Given the description of an element on the screen output the (x, y) to click on. 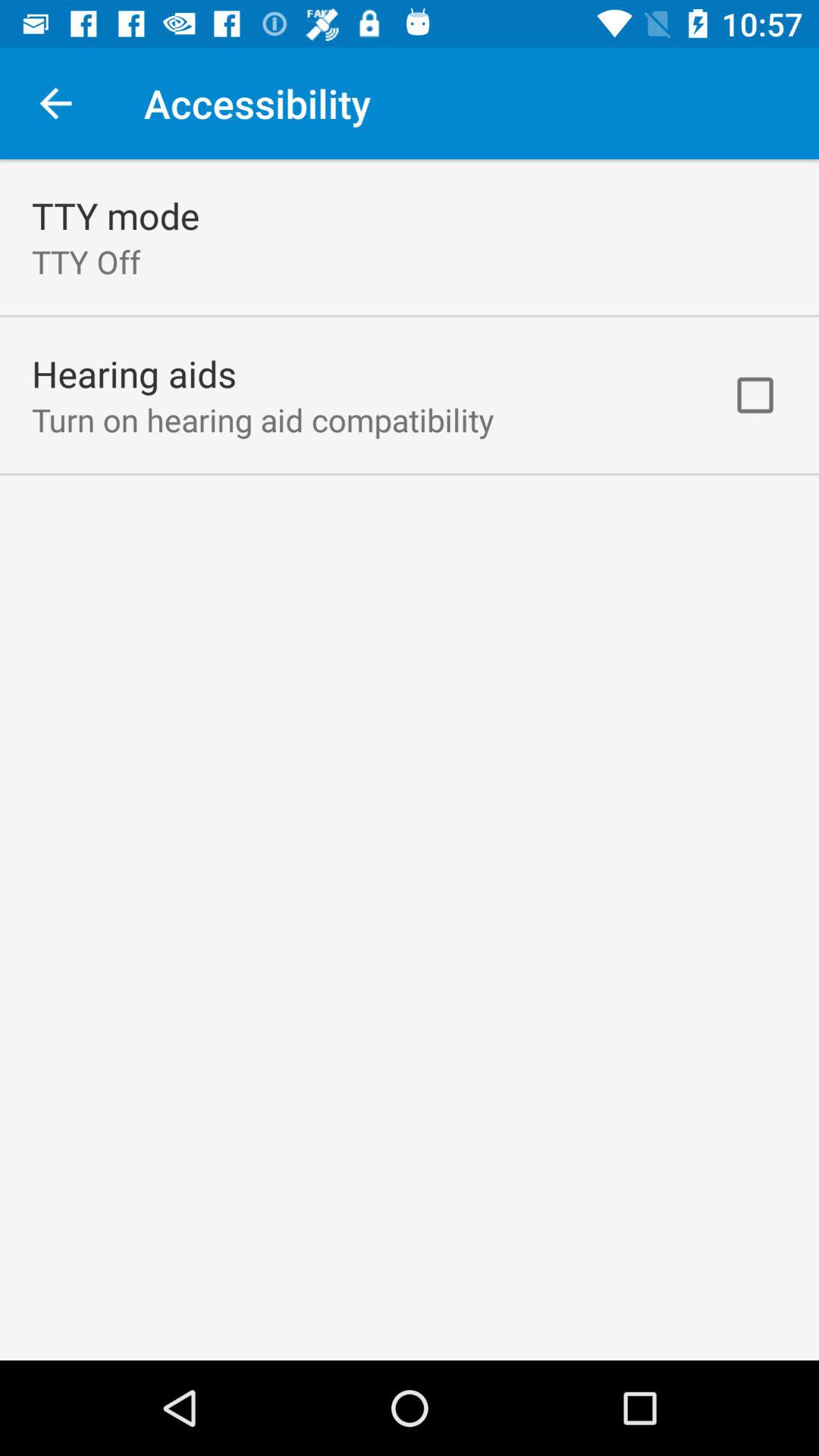
open the app to the right of the turn on hearing icon (755, 395)
